Given the description of an element on the screen output the (x, y) to click on. 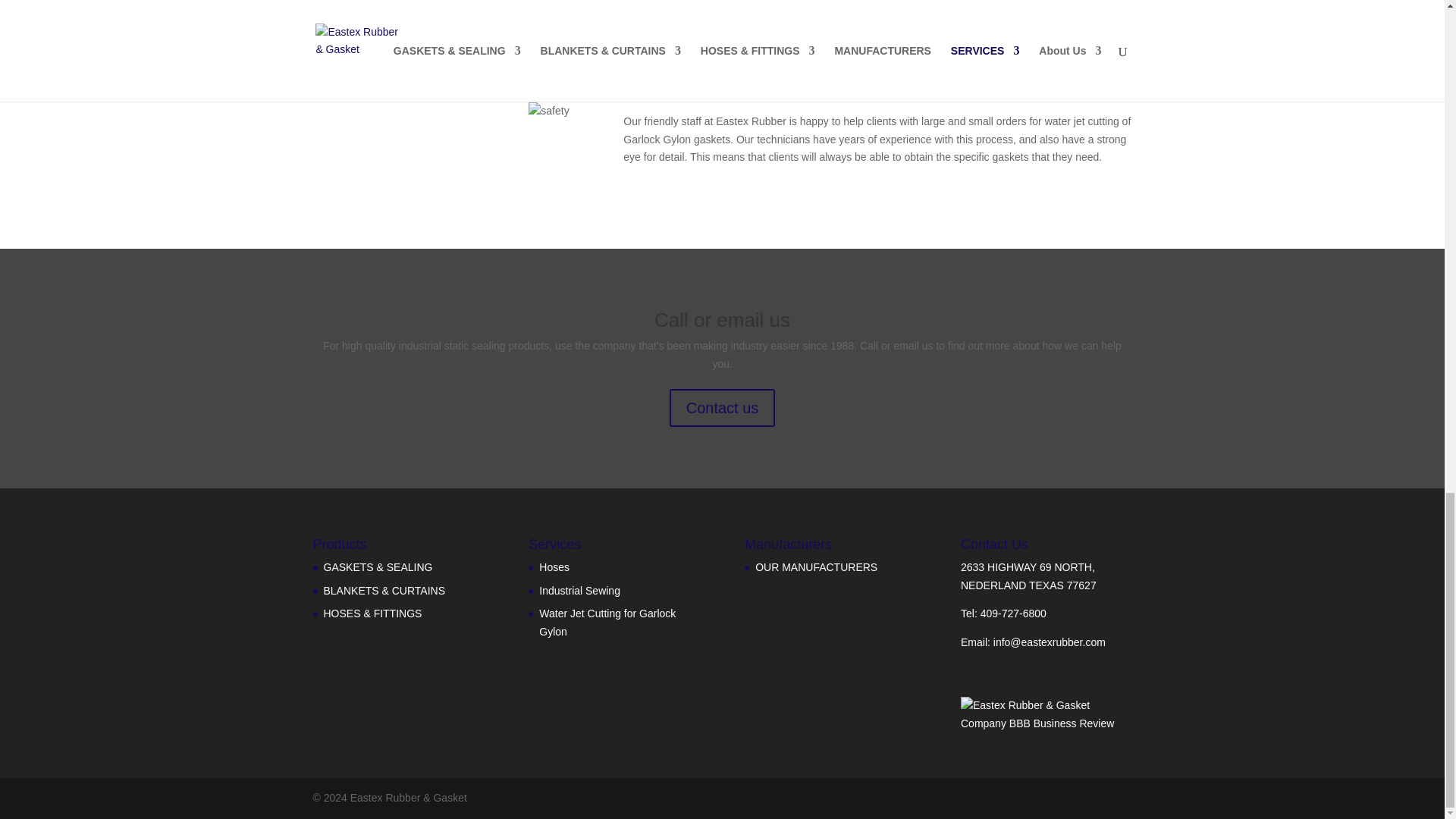
Hoses (553, 567)
Industrial Sewing (579, 590)
Contact us (722, 407)
OUR MANUFACTURERS (816, 567)
Water Jet Cutting for Garlock Gylon (606, 622)
